Given the description of an element on the screen output the (x, y) to click on. 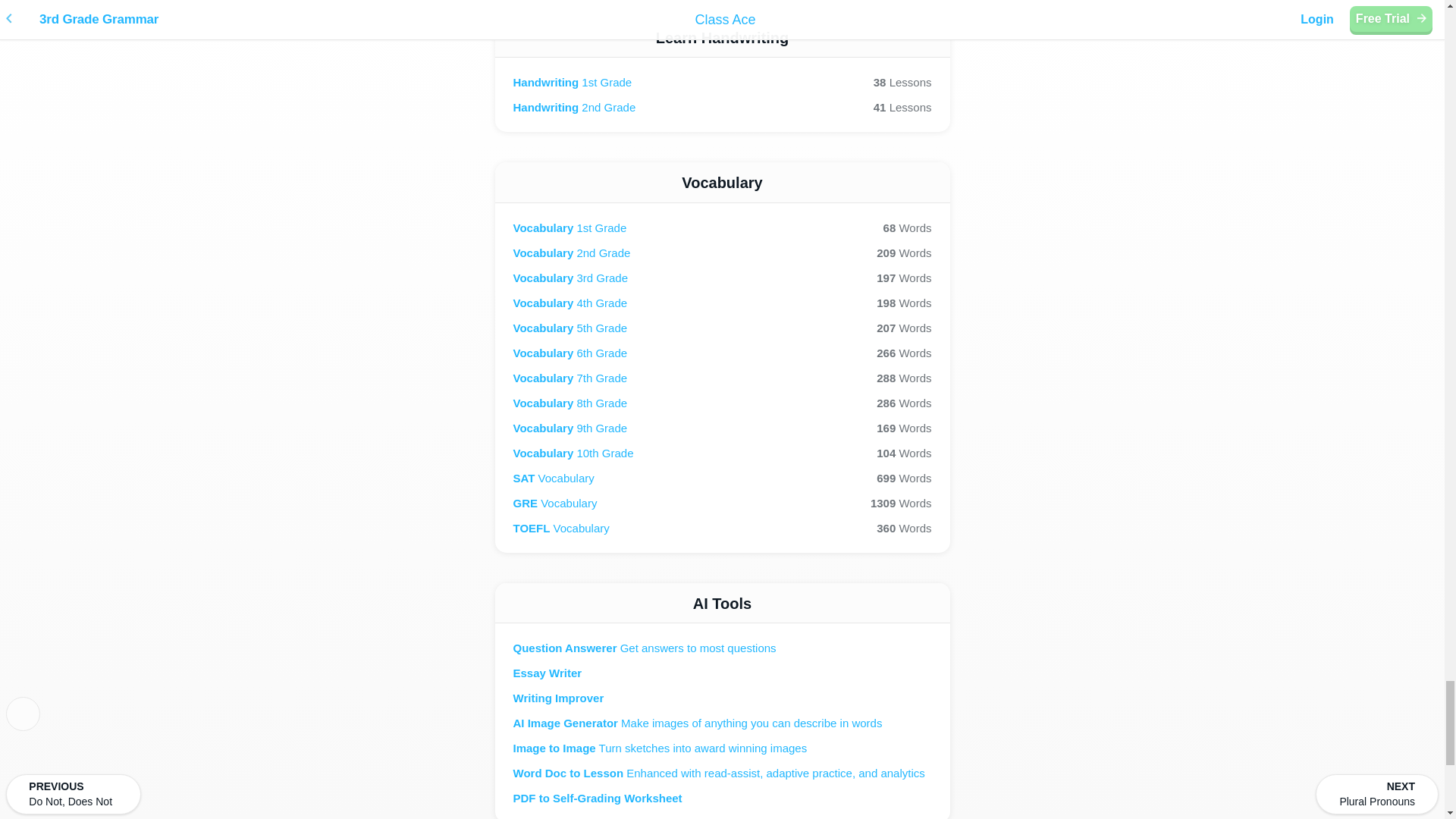
Vocabulary (722, 327)
Learn Handwriting (722, 182)
